Given the description of an element on the screen output the (x, y) to click on. 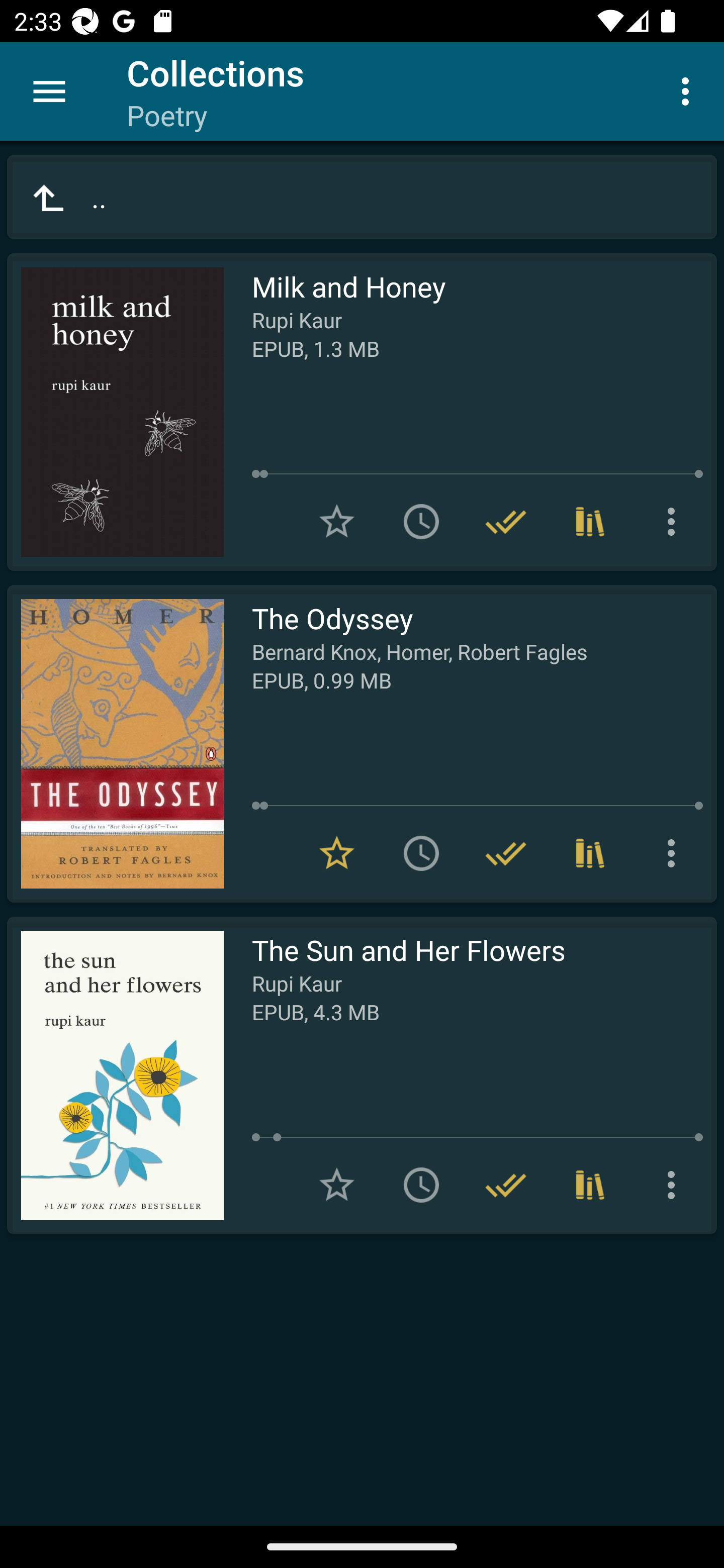
Menu (49, 91)
More options (688, 90)
.. (361, 197)
Read Milk and Honey (115, 412)
Add to Favorites (336, 521)
Add to To read (421, 521)
Remove from Have read (505, 521)
Collections (4) (590, 521)
More options (674, 521)
Read The Odyssey (115, 743)
Remove from Favorites (336, 852)
Add to To read (421, 852)
Remove from Have read (505, 852)
Collections (3) (590, 852)
More options (674, 852)
Read The Sun and Her Flowers (115, 1075)
Add to Favorites (336, 1185)
Add to To read (421, 1185)
Remove from Have read (505, 1185)
Collections (1) (590, 1185)
More options (674, 1185)
